Given the description of an element on the screen output the (x, y) to click on. 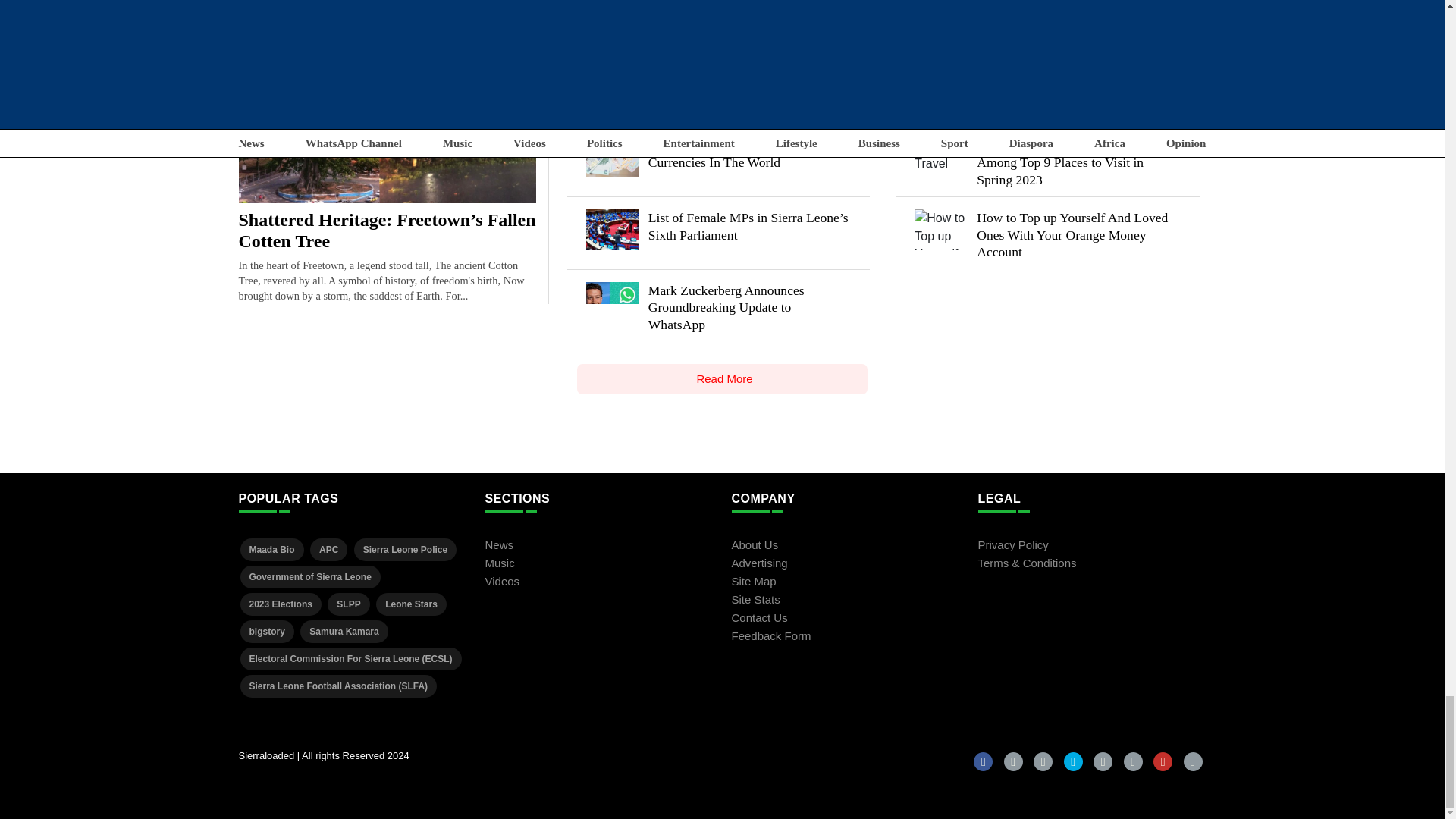
Government of Sierra Leone (310, 576)
Sierra Leone Police (405, 548)
Maada Bio (271, 548)
APC (328, 548)
